Given the description of an element on the screen output the (x, y) to click on. 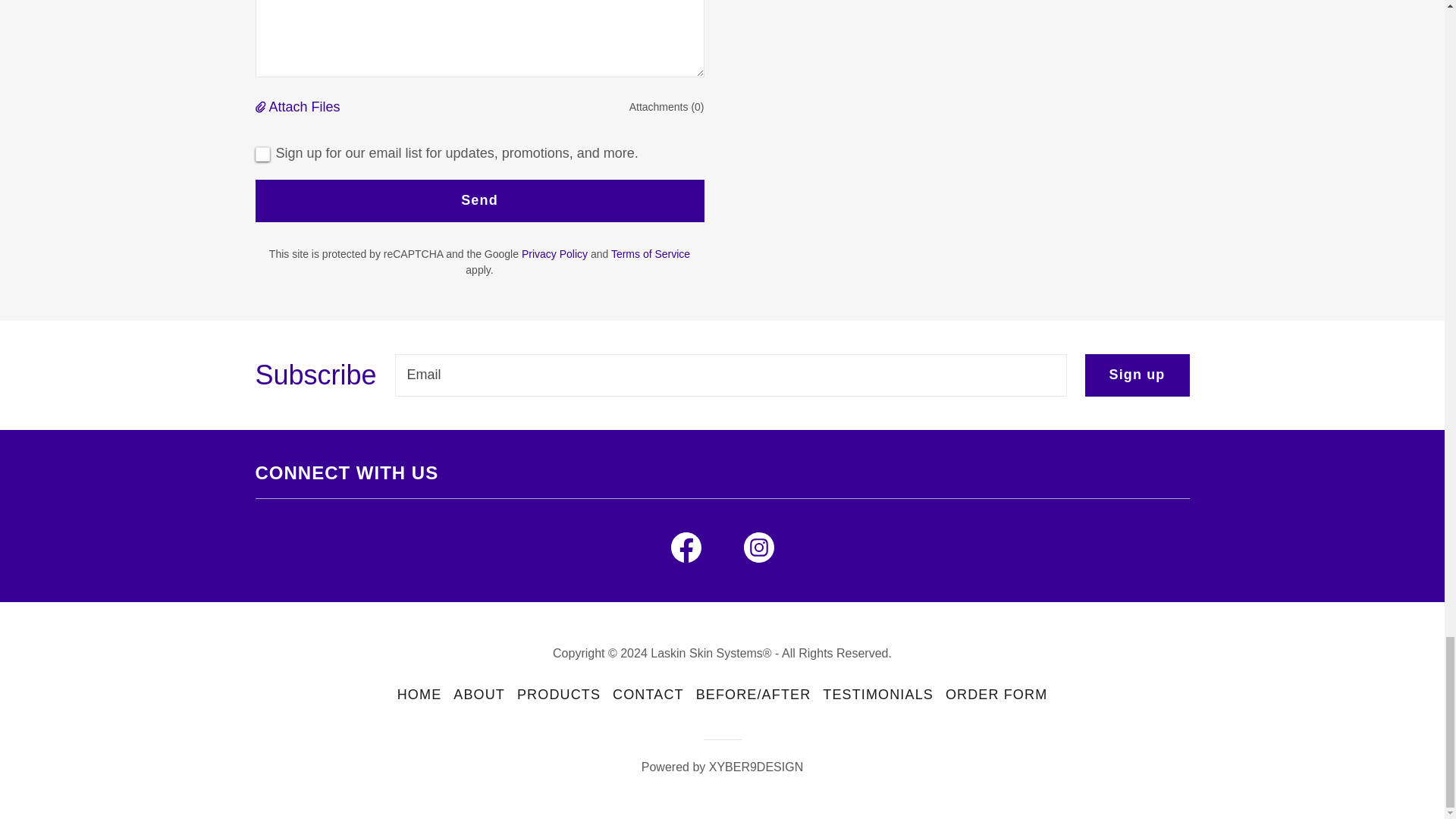
HOME (419, 694)
Terms of Service (650, 254)
Send (478, 200)
Privacy Policy (554, 254)
Sign up (1136, 374)
ABOUT (478, 694)
PRODUCTS (559, 694)
